Given the description of an element on the screen output the (x, y) to click on. 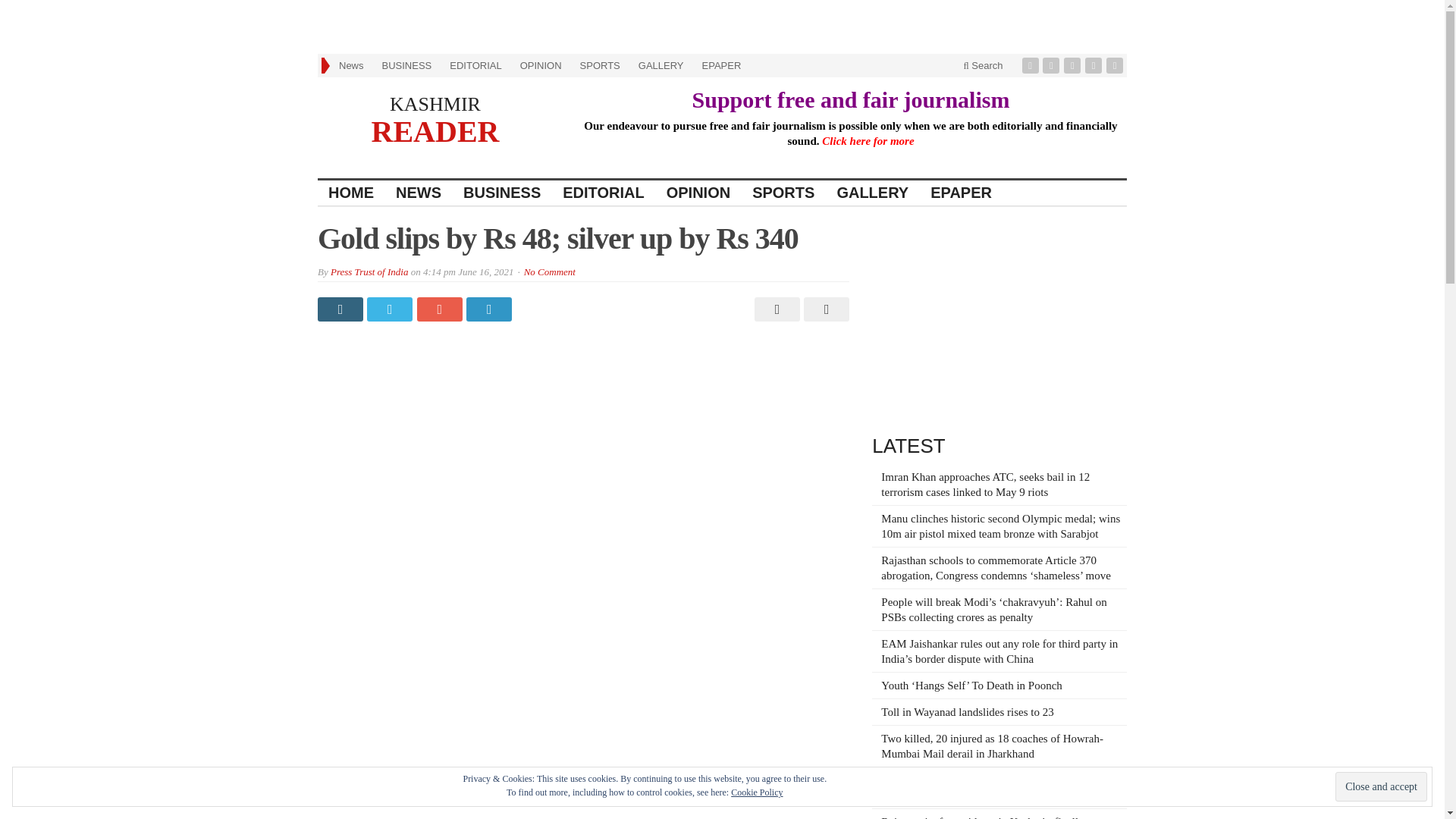
GALLERY (872, 192)
Twitter (1052, 65)
Share on Facebook (341, 309)
Daily Newspaper (435, 130)
HOME (351, 192)
Daily Newspaper (435, 104)
Youtube (1094, 65)
EDITORIAL (603, 192)
SPORTS (599, 65)
Print This Post (775, 309)
OPINION (540, 65)
No Comment (549, 271)
EDITORIAL (476, 65)
Press Trust of India (368, 271)
EPAPER (722, 65)
